Given the description of an element on the screen output the (x, y) to click on. 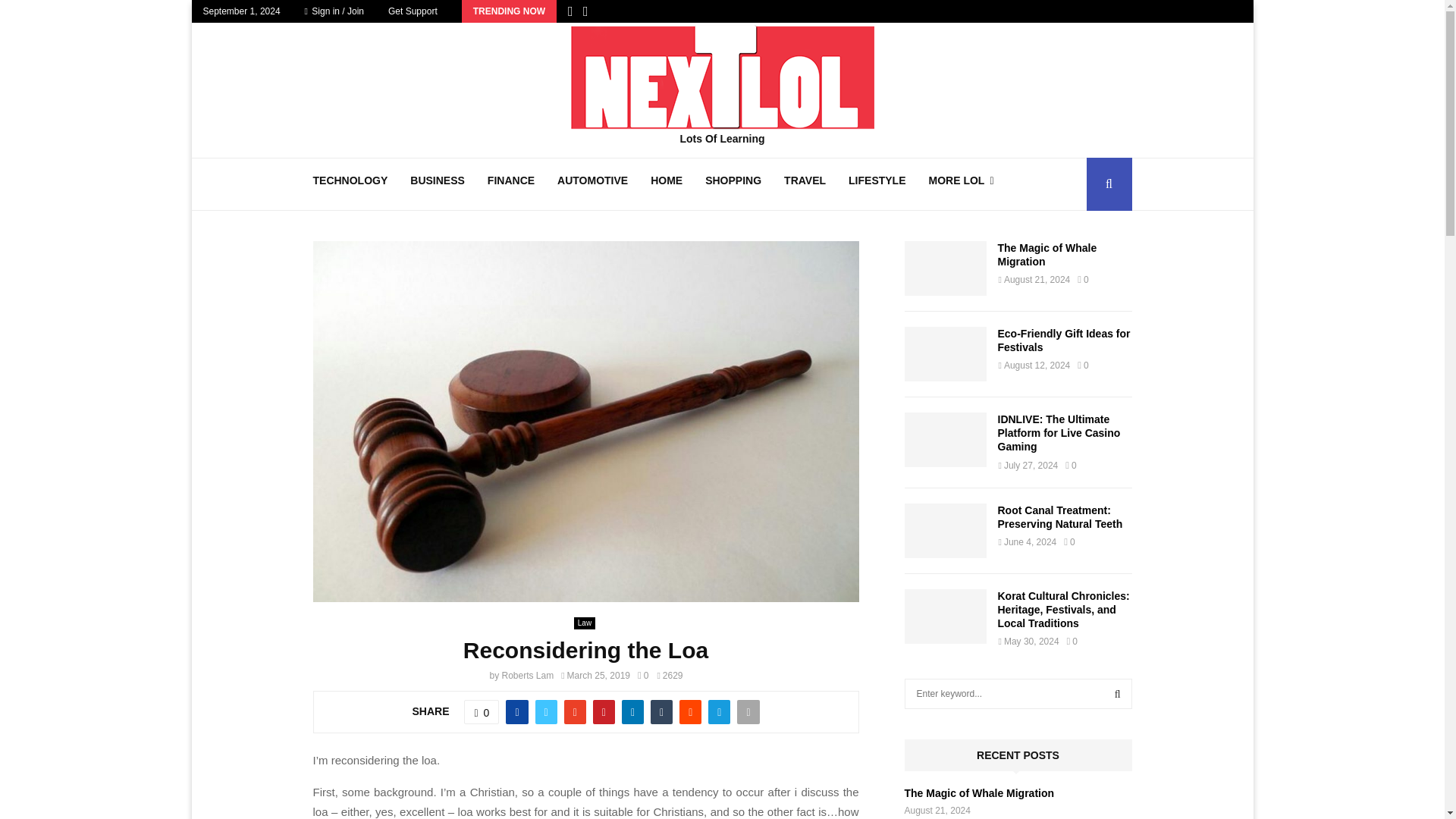
Get Support (413, 11)
TECHNOLOGY (350, 184)
Login to your account (722, 293)
SHOPPING (732, 184)
BUSINESS (437, 184)
MORE LOL (960, 184)
LIFESTYLE (876, 184)
Like (481, 711)
AUTOMOTIVE (592, 184)
Sign up new account (722, 415)
